Given the description of an element on the screen output the (x, y) to click on. 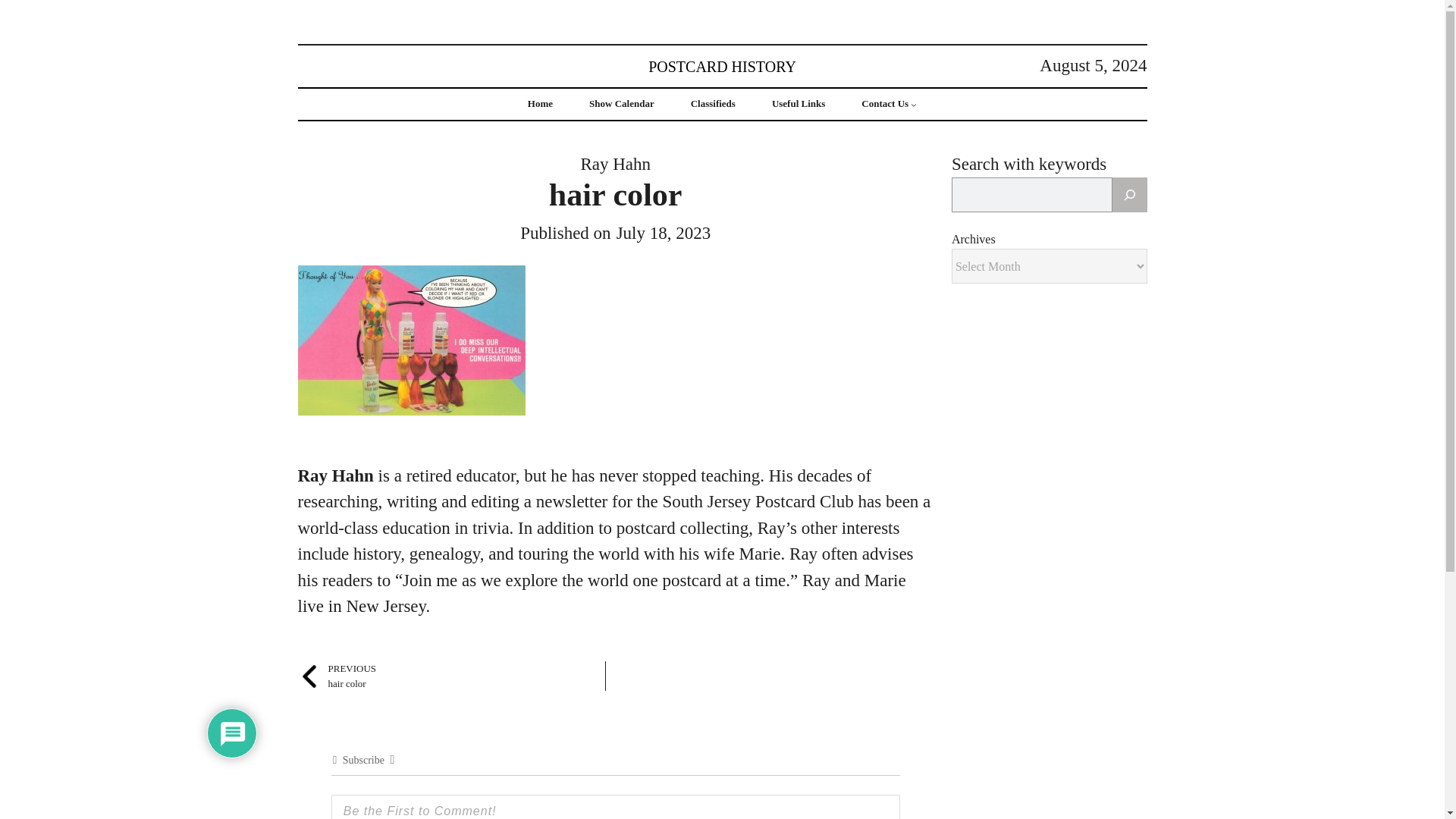
Home (336, 675)
Contact Us (540, 103)
Show Calendar (884, 103)
Classifieds (621, 103)
POSTCARD HISTORY (712, 103)
Useful Links (721, 65)
